Given the description of an element on the screen output the (x, y) to click on. 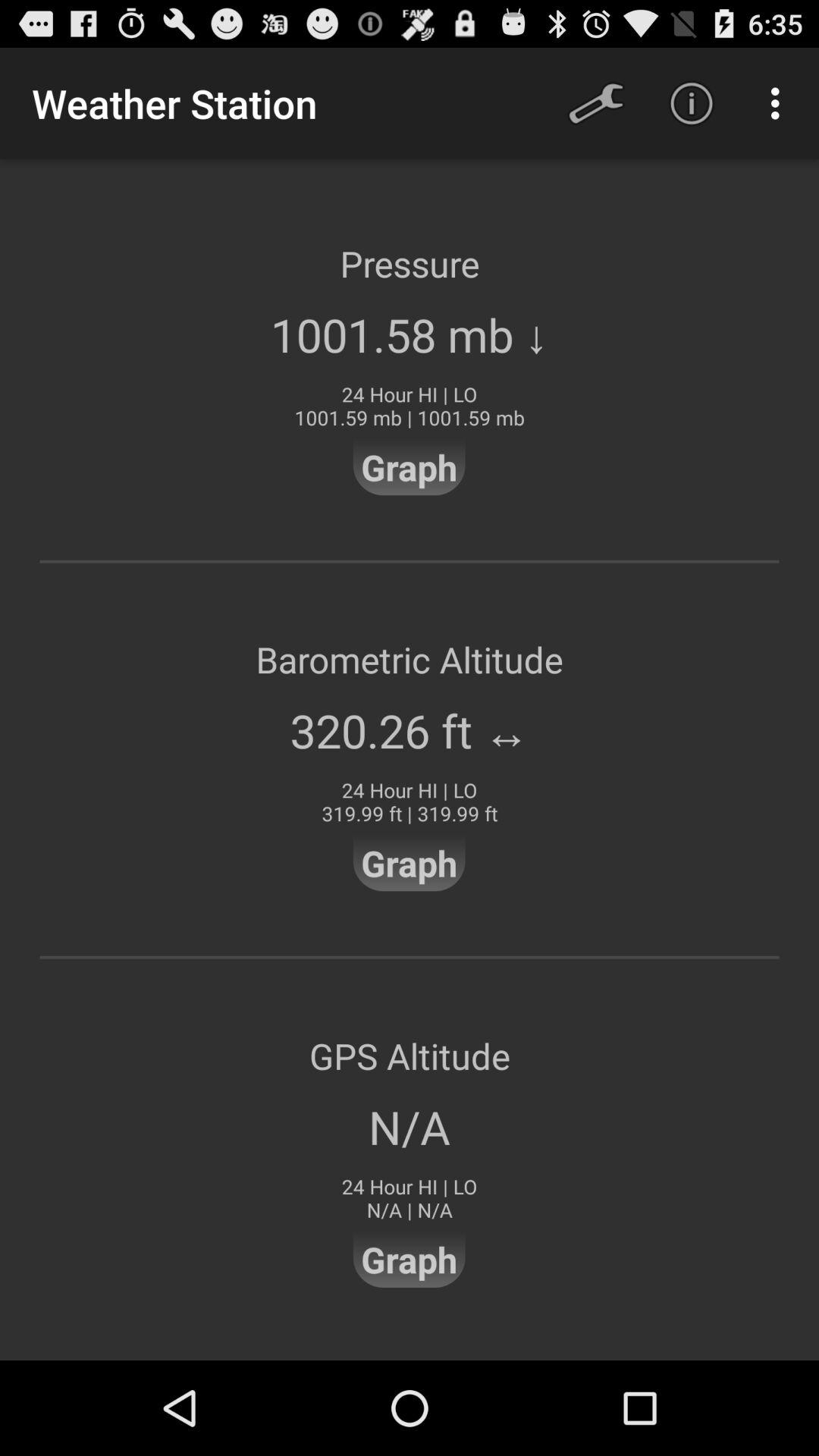
tap icon above pressure (595, 103)
